Given the description of an element on the screen output the (x, y) to click on. 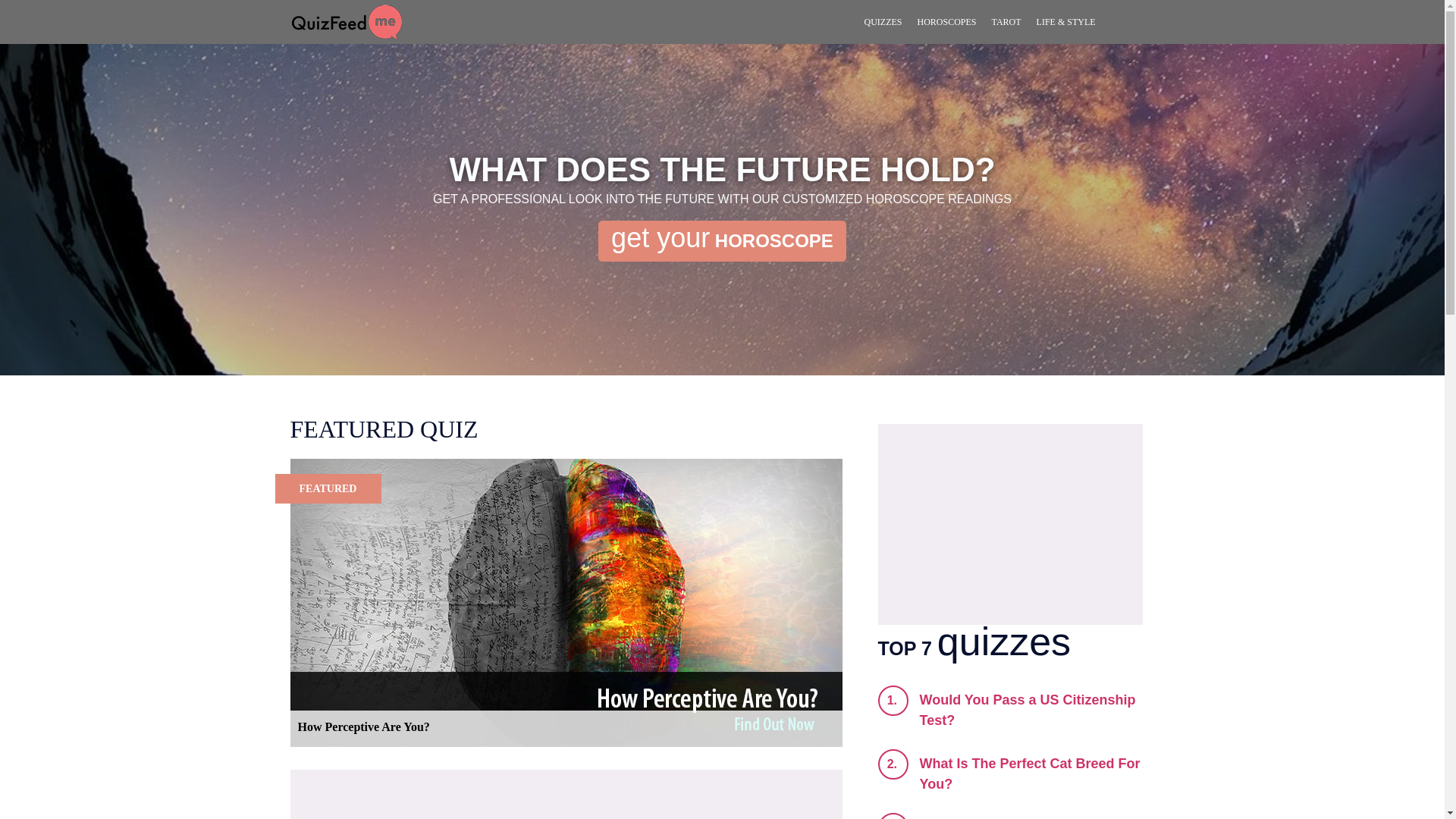
3rd party ad content (1010, 524)
get your HOROSCOPE (721, 240)
QuizFeed (346, 21)
What Is The Perfect Cat Breed For You? (1029, 773)
Would You Pass a US Citizenship Test? (1026, 710)
HOROSCOPES (947, 22)
QUIZZES (883, 22)
TAROT (1006, 22)
